Given the description of an element on the screen output the (x, y) to click on. 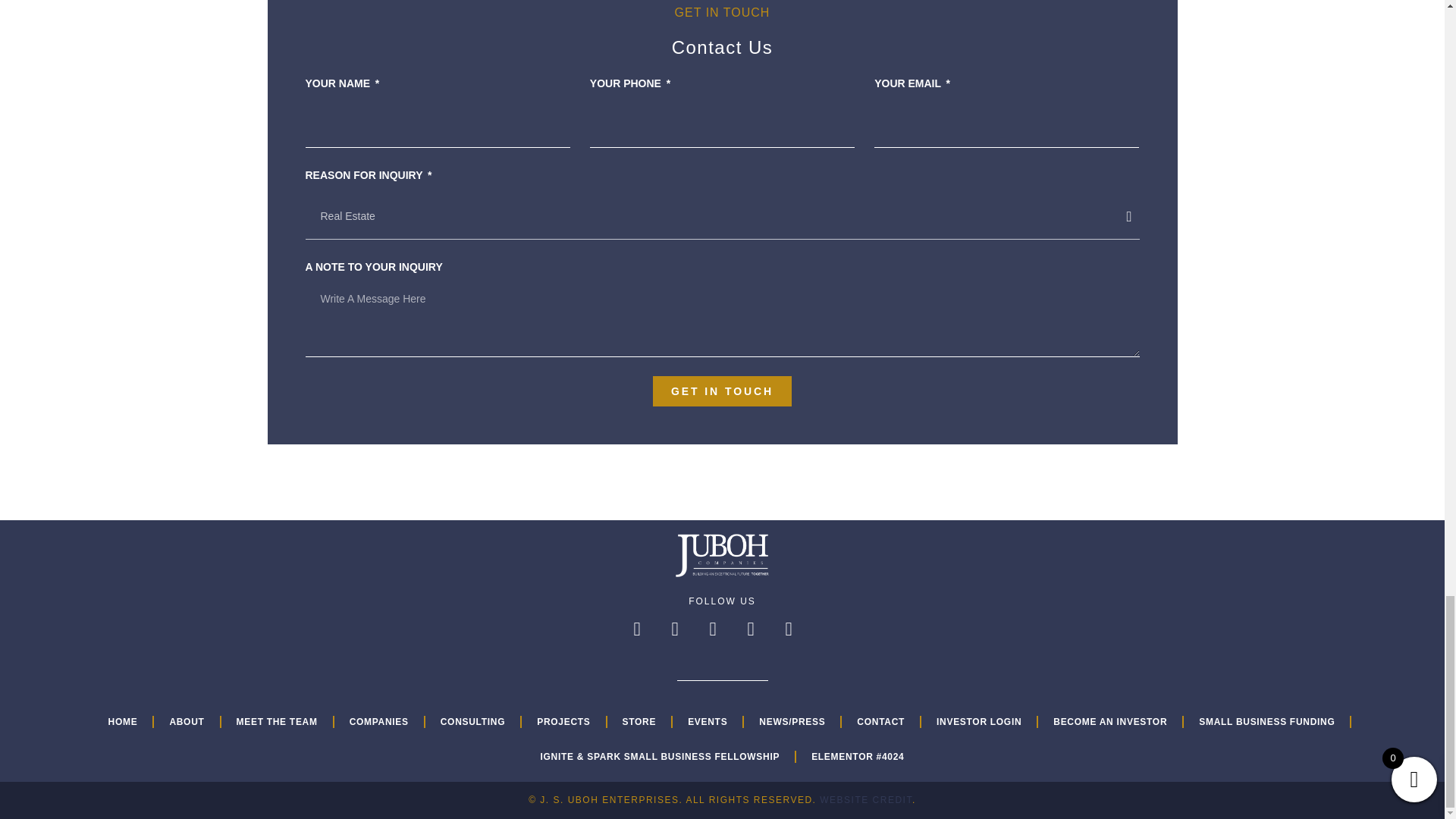
CONSULTING (472, 721)
STORE (639, 721)
BECOME AN INVESTOR (1110, 721)
PROJECTS (563, 721)
COMPANIES (378, 721)
Facebook (759, 638)
MEET THE TEAM (277, 721)
Twitter (797, 638)
Instagram (646, 638)
ABOUT (186, 721)
